Given the description of an element on the screen output the (x, y) to click on. 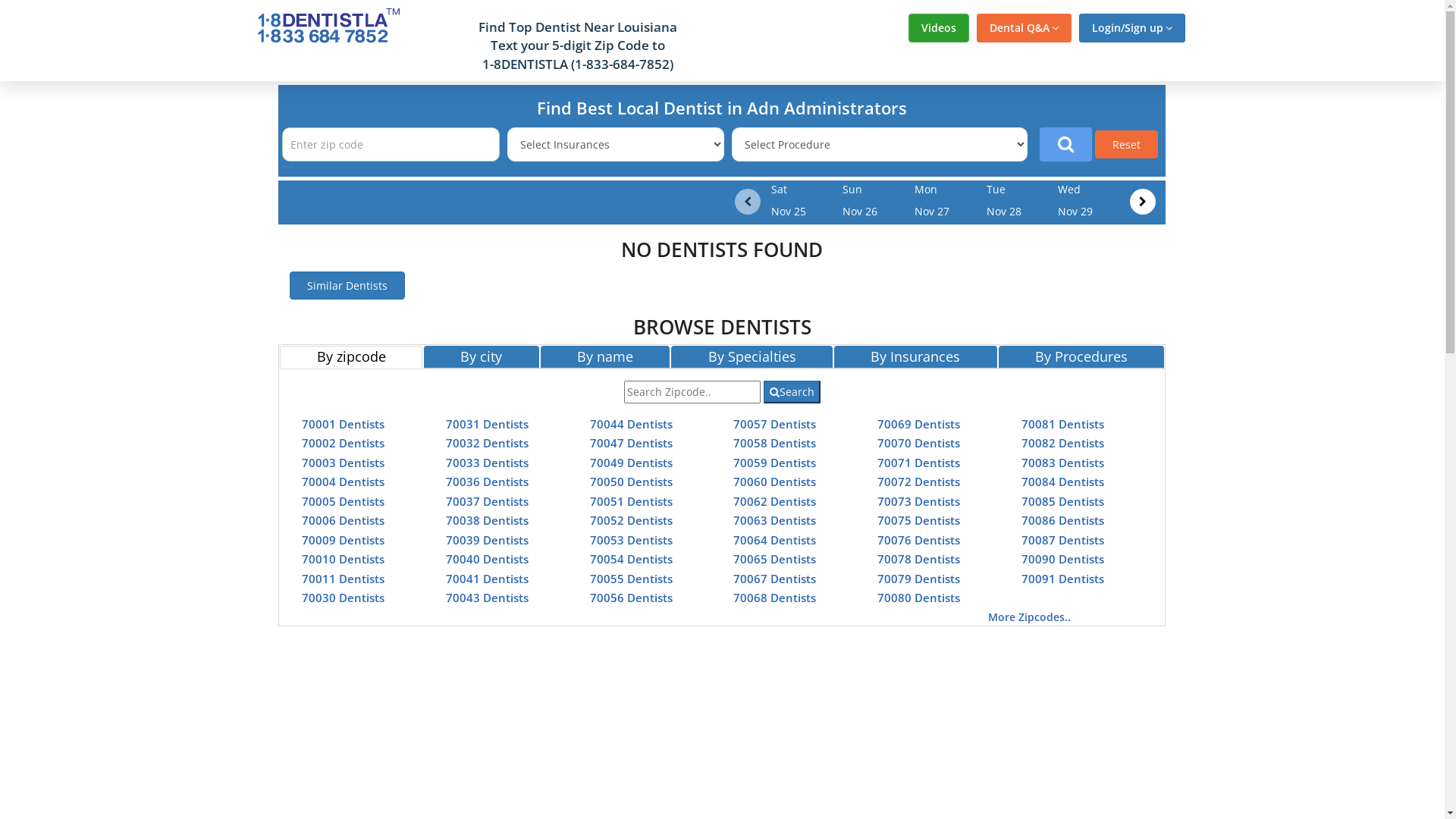
70091 Dentists Element type: text (1062, 577)
70050 Dentists Element type: text (630, 481)
70005 Dentists Element type: text (342, 500)
70081 Dentists Element type: text (1062, 422)
70032 Dentists Element type: text (486, 442)
70064 Dentists Element type: text (774, 539)
70063 Dentists Element type: text (774, 519)
Reset Element type: text (1126, 144)
70031 Dentists Element type: text (486, 422)
70080 Dentists Element type: text (918, 597)
70079 Dentists Element type: text (918, 577)
70072 Dentists Element type: text (918, 481)
70039 Dentists Element type: text (486, 539)
70044 Dentists Element type: text (630, 422)
70043 Dentists Element type: text (486, 597)
Advertisement Element type: hover (1313, 308)
70003 Dentists Element type: text (342, 462)
Login/Sign up Element type: text (1131, 27)
70071 Dentists Element type: text (918, 462)
70067 Dentists Element type: text (774, 577)
70036 Dentists Element type: text (486, 481)
70086 Dentists Element type: text (1062, 519)
70009 Dentists Element type: text (342, 539)
70085 Dentists Element type: text (1062, 500)
Dental Q&A Element type: text (1023, 27)
70075 Dentists Element type: text (918, 519)
Similar Dentists Element type: text (346, 285)
70082 Dentists Element type: text (1062, 442)
70087 Dentists Element type: text (1062, 539)
70037 Dentists Element type: text (486, 500)
70010 Dentists Element type: text (342, 558)
70078 Dentists Element type: text (918, 558)
70002 Dentists Element type: text (342, 442)
70040 Dentists Element type: text (486, 558)
By city Element type: text (481, 356)
70006 Dentists Element type: text (342, 519)
70069 Dentists Element type: text (918, 422)
70055 Dentists Element type: text (630, 577)
70073 Dentists Element type: text (918, 500)
70054 Dentists Element type: text (630, 558)
70030 Dentists Element type: text (342, 597)
Videos Element type: text (938, 27)
70090 Dentists Element type: text (1062, 558)
70084 Dentists Element type: text (1062, 481)
By zipcode Element type: text (350, 356)
Search Element type: text (791, 391)
70056 Dentists Element type: text (630, 597)
70076 Dentists Element type: text (918, 539)
Advertisement Element type: hover (129, 308)
70052 Dentists Element type: text (630, 519)
70062 Dentists Element type: text (774, 500)
70070 Dentists Element type: text (918, 442)
More Zipcodes.. Element type: text (1029, 616)
70059 Dentists Element type: text (774, 462)
By name Element type: text (605, 356)
70004 Dentists Element type: text (342, 481)
By Specialties Element type: text (751, 356)
70057 Dentists Element type: text (774, 422)
70058 Dentists Element type: text (774, 442)
70083 Dentists Element type: text (1062, 462)
70053 Dentists Element type: text (630, 539)
70060 Dentists Element type: text (774, 481)
70041 Dentists Element type: text (486, 577)
70038 Dentists Element type: text (486, 519)
70049 Dentists Element type: text (630, 462)
By Procedures Element type: text (1081, 356)
70033 Dentists Element type: text (486, 462)
70068 Dentists Element type: text (774, 597)
70047 Dentists Element type: text (630, 442)
By Insurances Element type: text (915, 356)
70011 Dentists Element type: text (342, 577)
70051 Dentists Element type: text (630, 500)
70001 Dentists Element type: text (342, 422)
70065 Dentists Element type: text (774, 558)
